Given the description of an element on the screen output the (x, y) to click on. 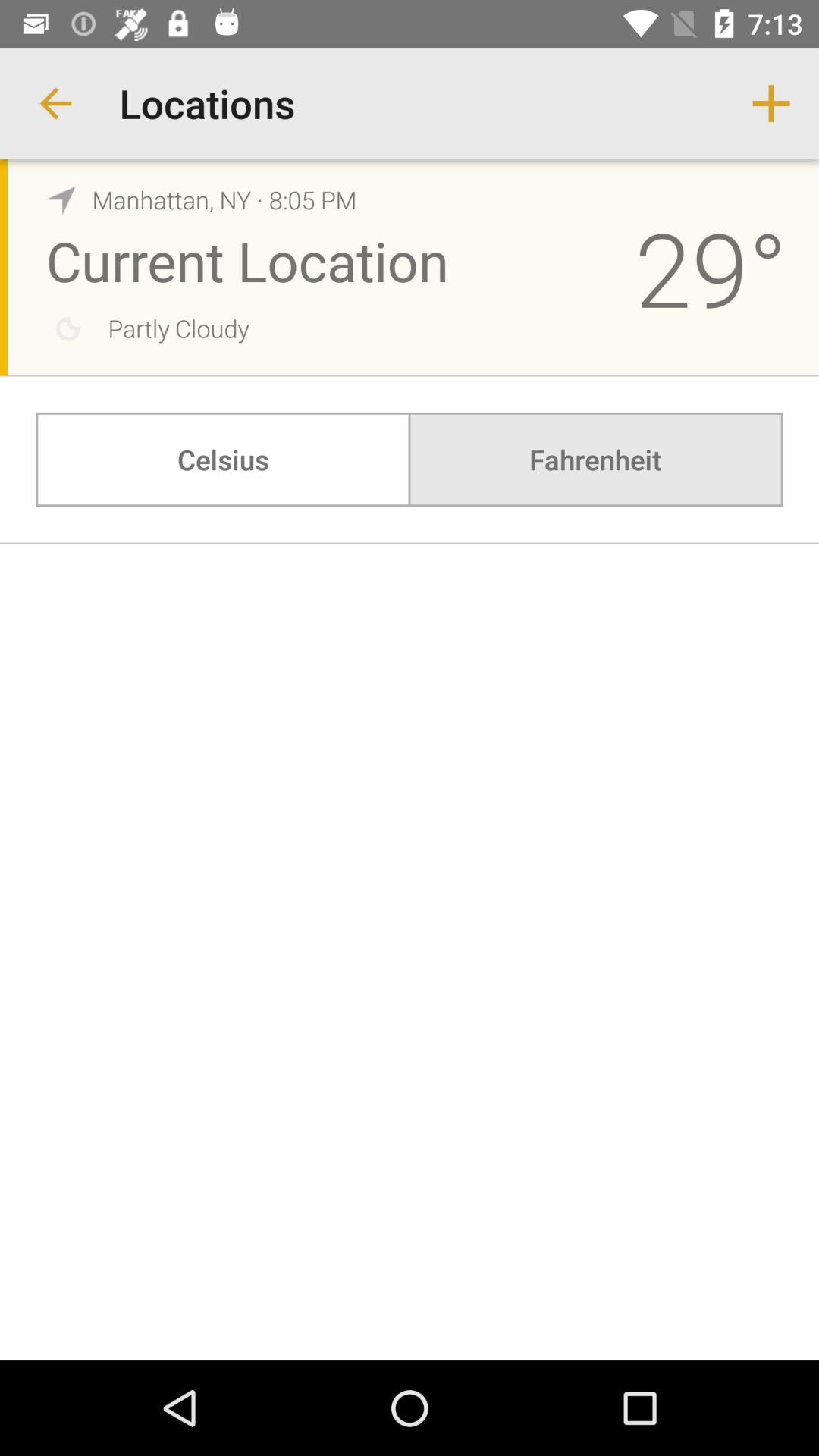
tap item next to locations item (771, 103)
